Given the description of an element on the screen output the (x, y) to click on. 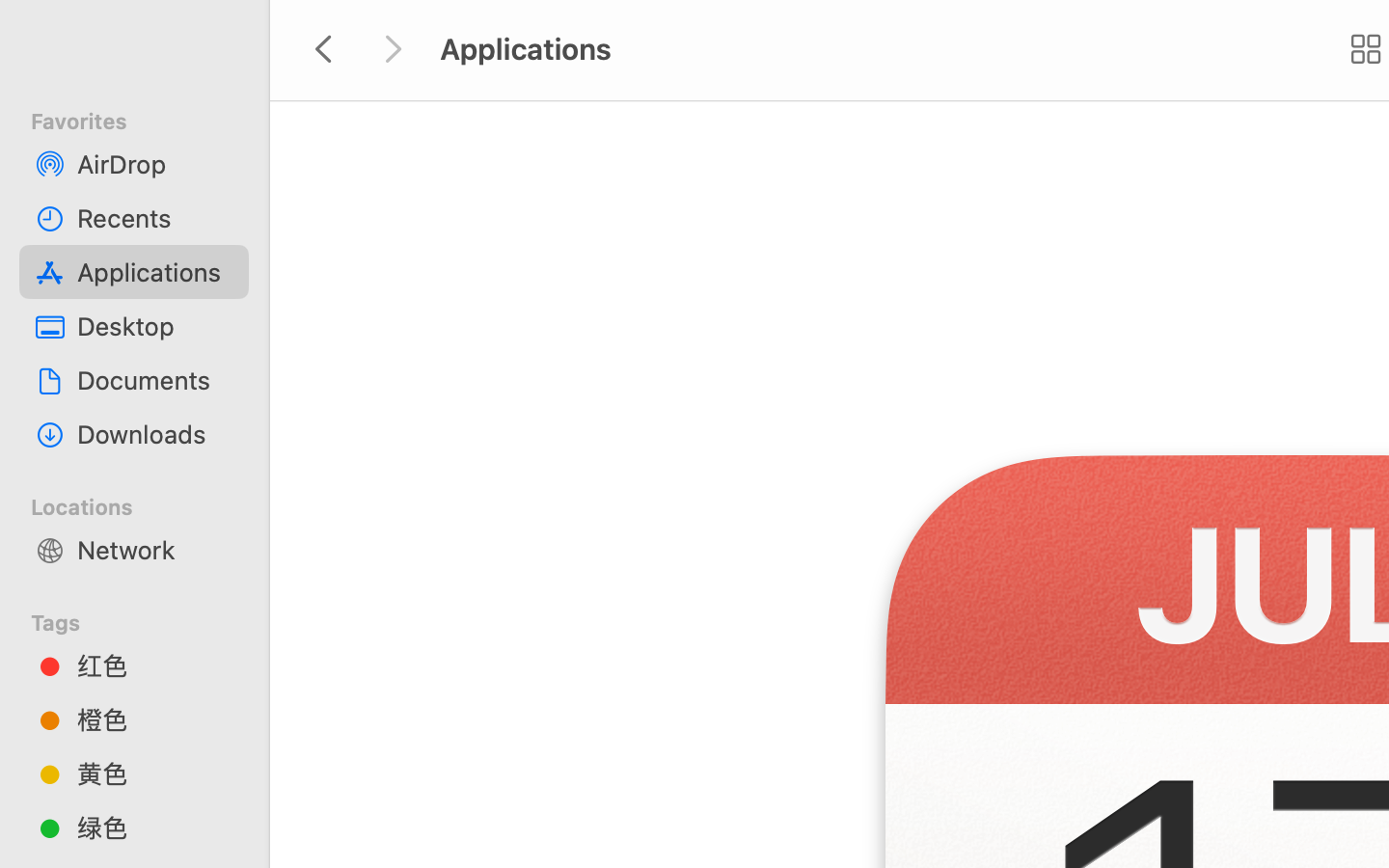
Recents Element type: AXStaticText (155, 217)
Locations Element type: AXStaticText (145, 504)
橙色 Element type: AXStaticText (155, 719)
Desktop Element type: AXStaticText (155, 325)
